Given the description of an element on the screen output the (x, y) to click on. 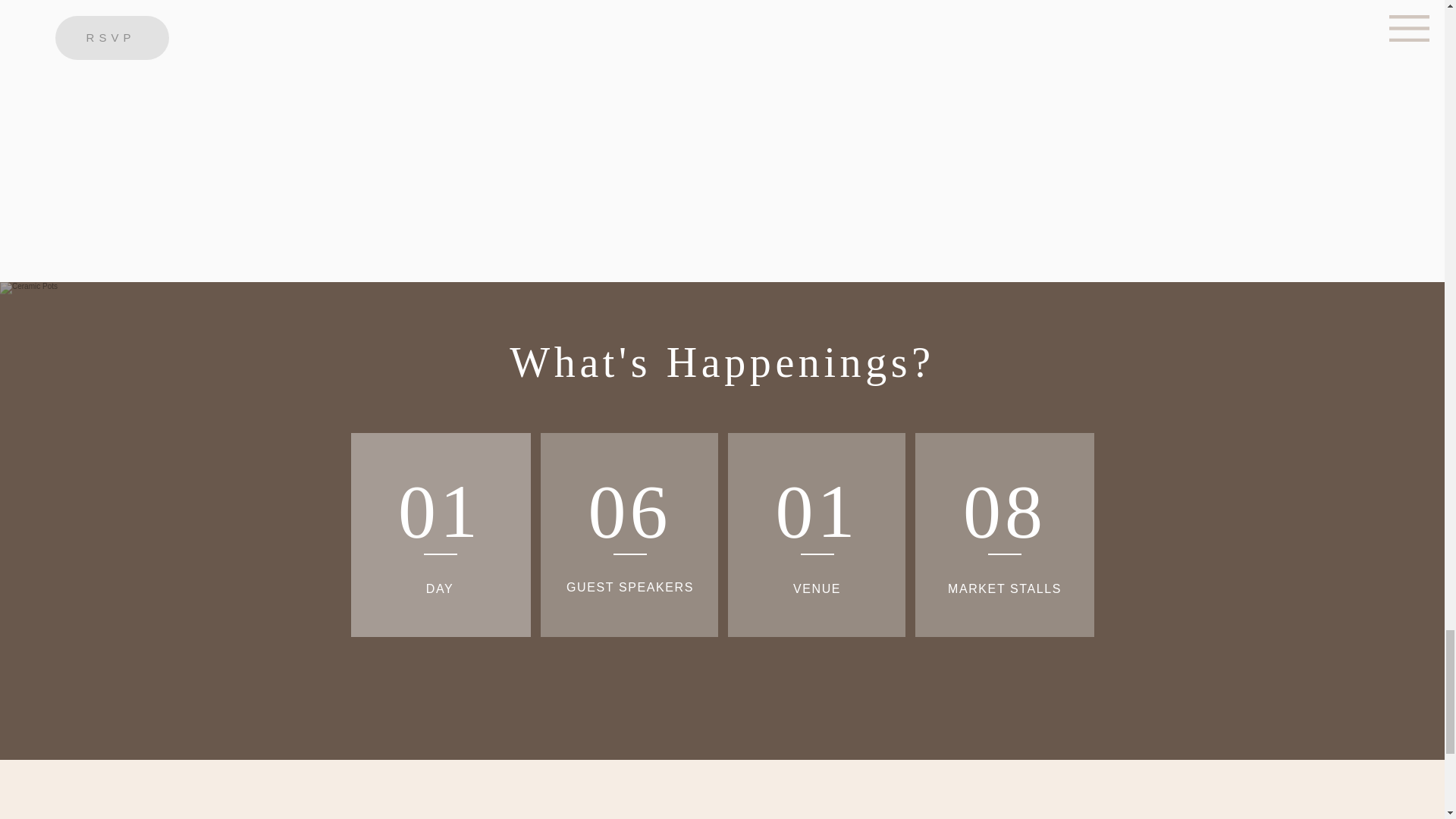
RSVP (111, 37)
